Given the description of an element on the screen output the (x, y) to click on. 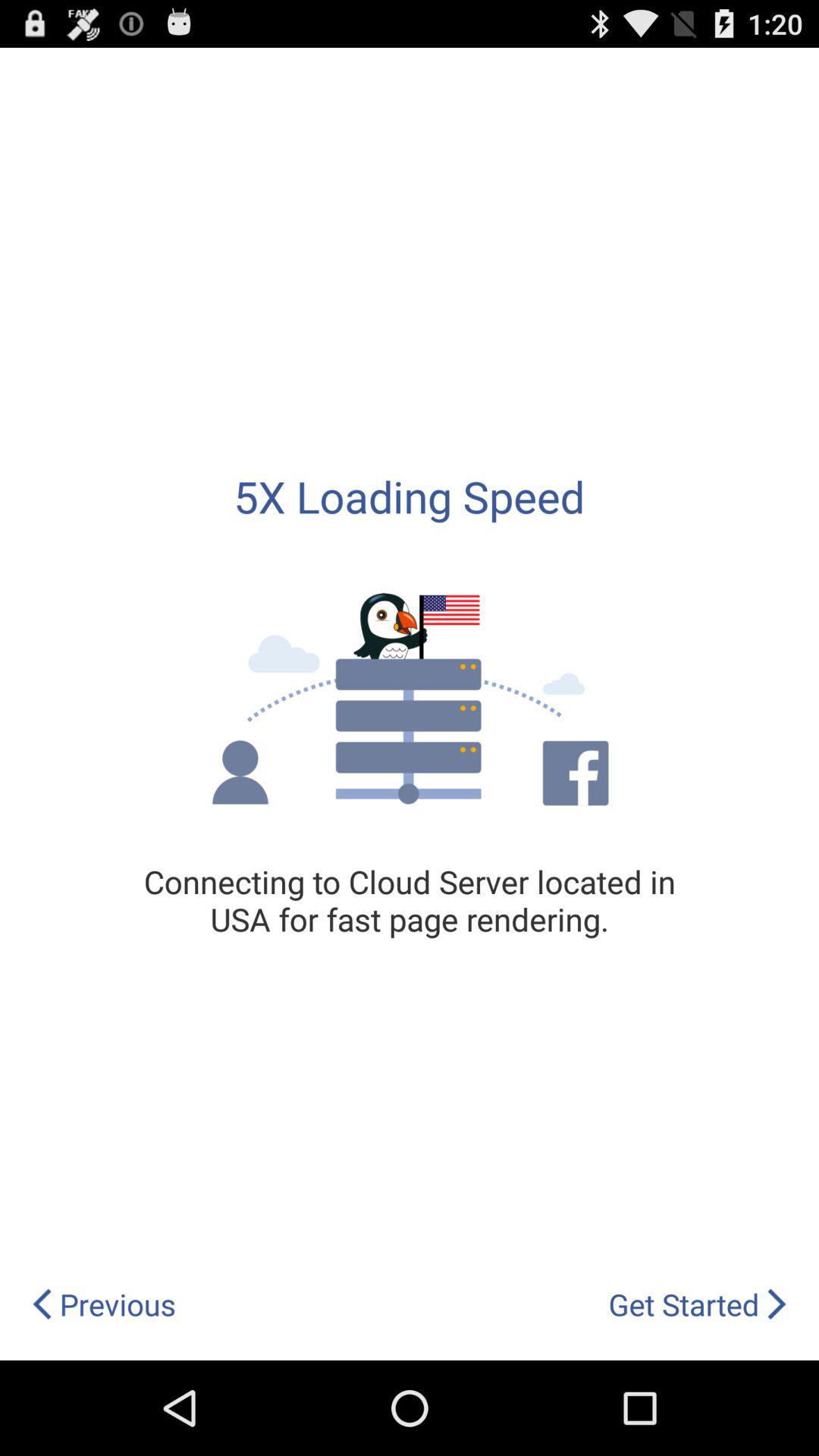
choose app to the left of get started icon (103, 1304)
